Given the description of an element on the screen output the (x, y) to click on. 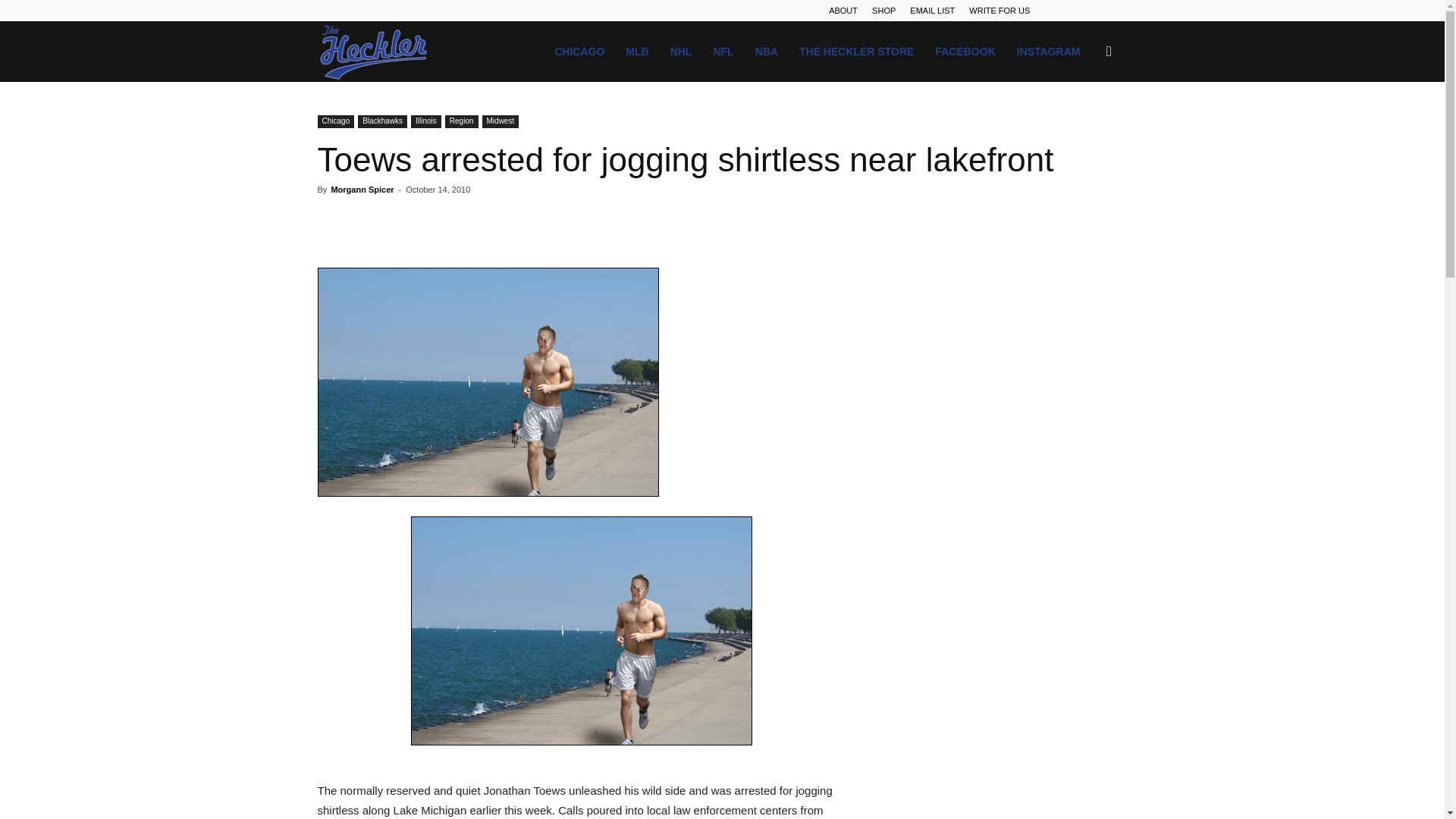
EMAIL LIST (932, 10)
SHOP (883, 10)
Twitter (1114, 10)
2010-10-15-toews-jogging (581, 630)
ABOUT (842, 10)
Search (1085, 124)
WRITE FOR US (999, 10)
The Heckler (373, 52)
Instagram (1090, 10)
2010-10-15-toews-jogging (487, 381)
